Given the description of an element on the screen output the (x, y) to click on. 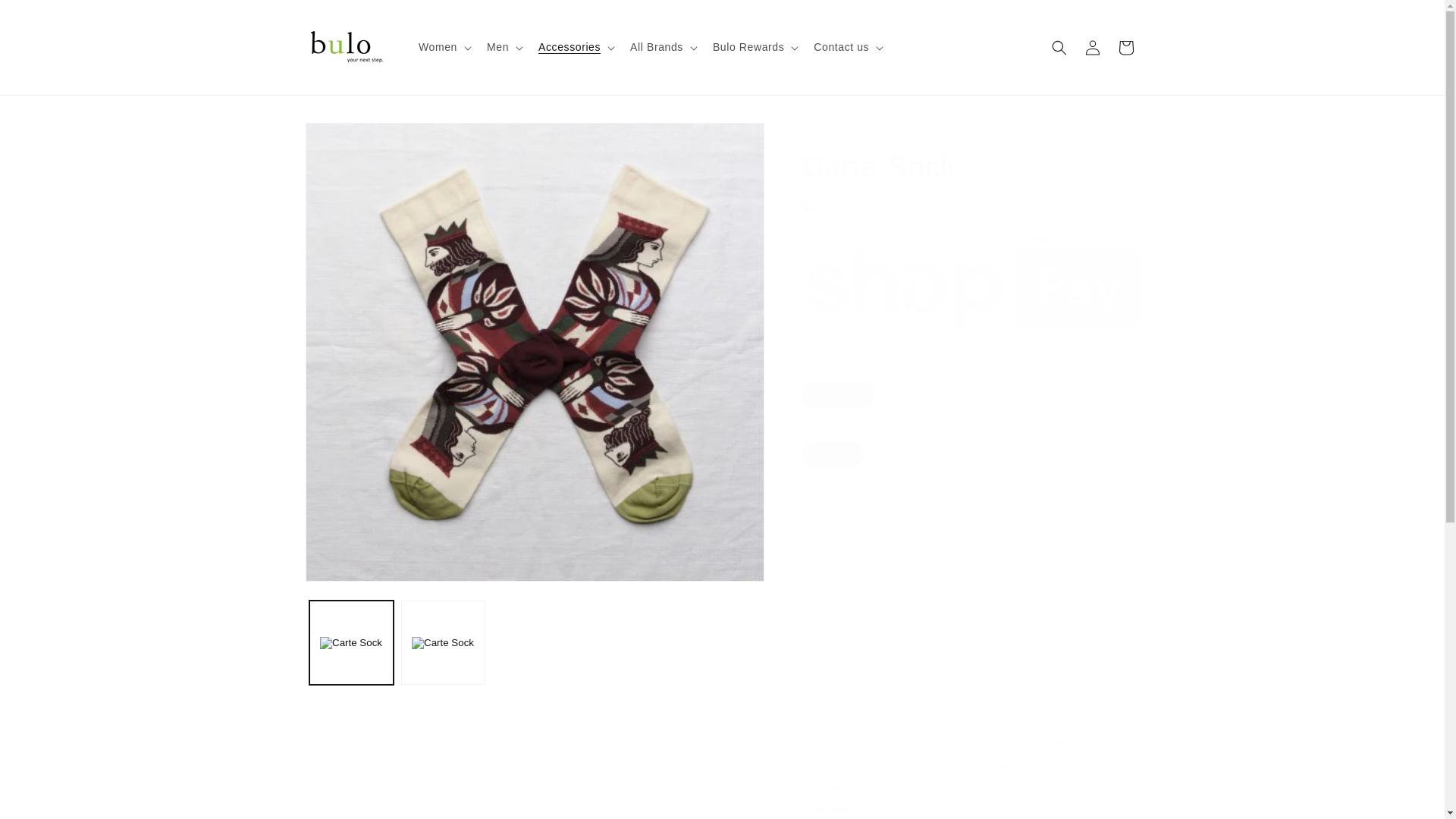
Skip to content (45, 17)
1 (856, 518)
